Given the description of an element on the screen output the (x, y) to click on. 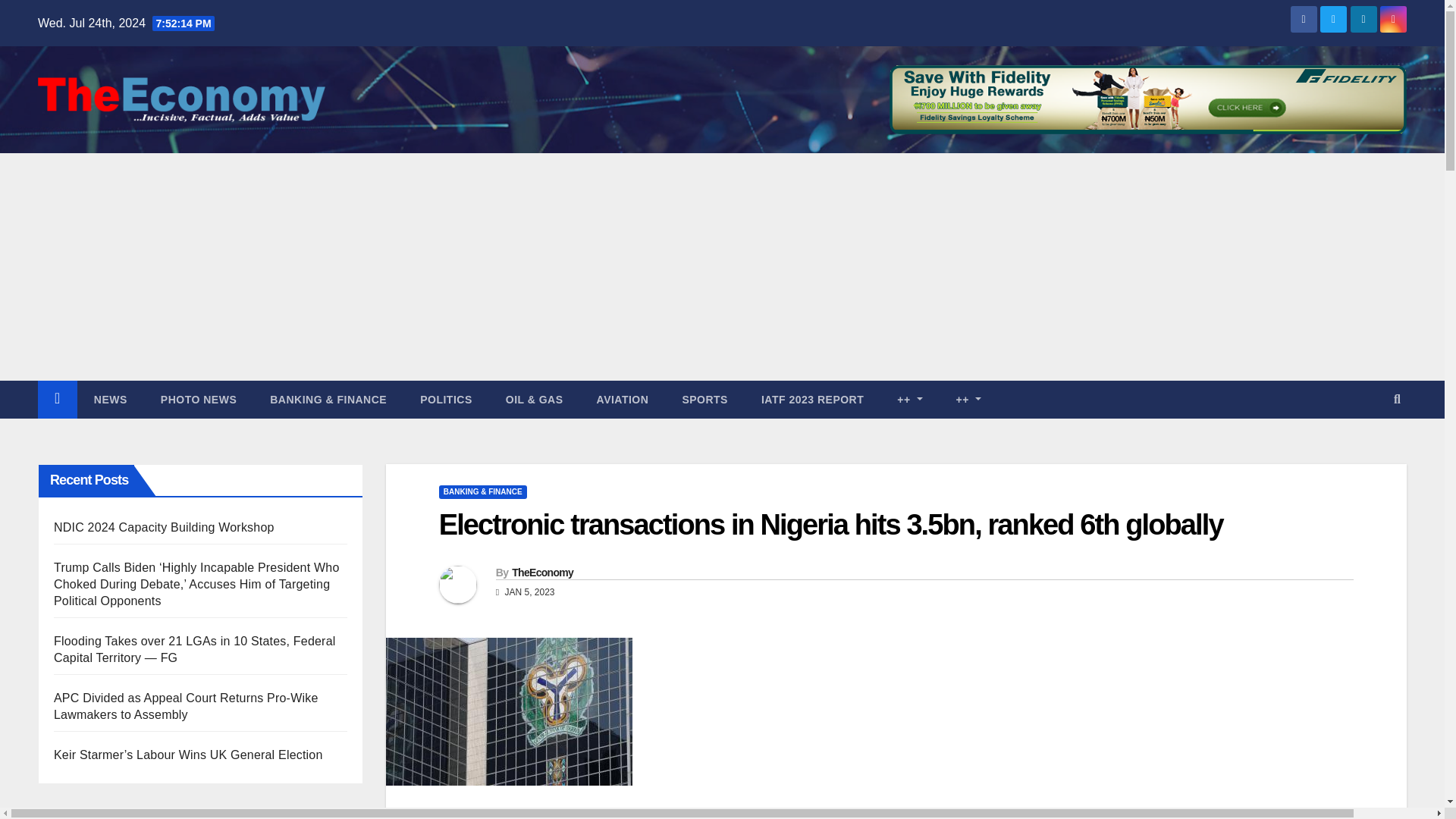
News (110, 399)
AVIATION (622, 399)
SPORTS (704, 399)
Politics (446, 399)
Sports (704, 399)
Aviation (622, 399)
Photo News (198, 399)
IATF 2023 REPORT (812, 399)
NEWS (110, 399)
IATF 2023 REPORT (812, 399)
POLITICS (446, 399)
PHOTO NEWS (198, 399)
